Given the description of an element on the screen output the (x, y) to click on. 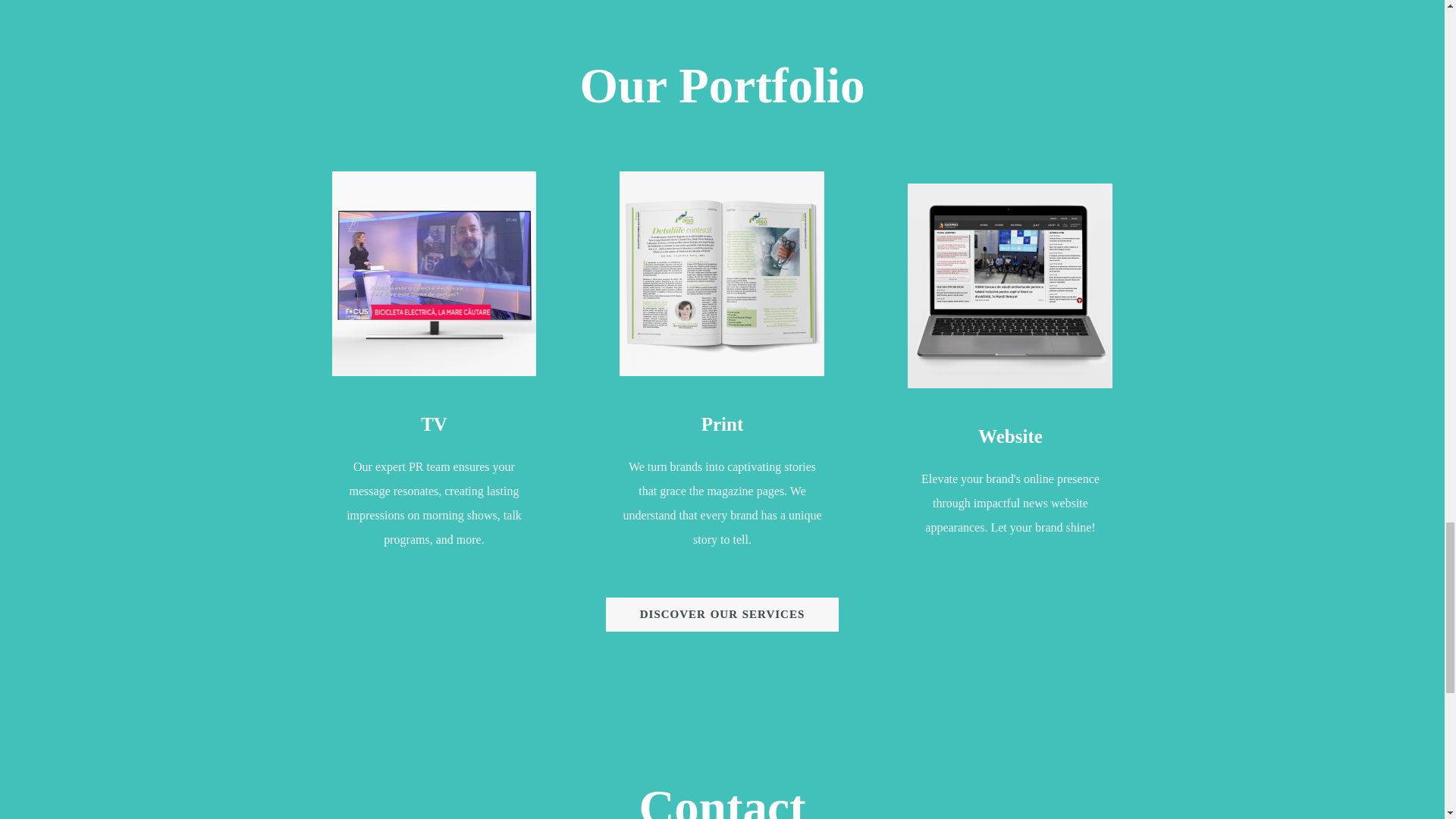
DISCOVER OUR SERVICES (722, 614)
